Given the description of an element on the screen output the (x, y) to click on. 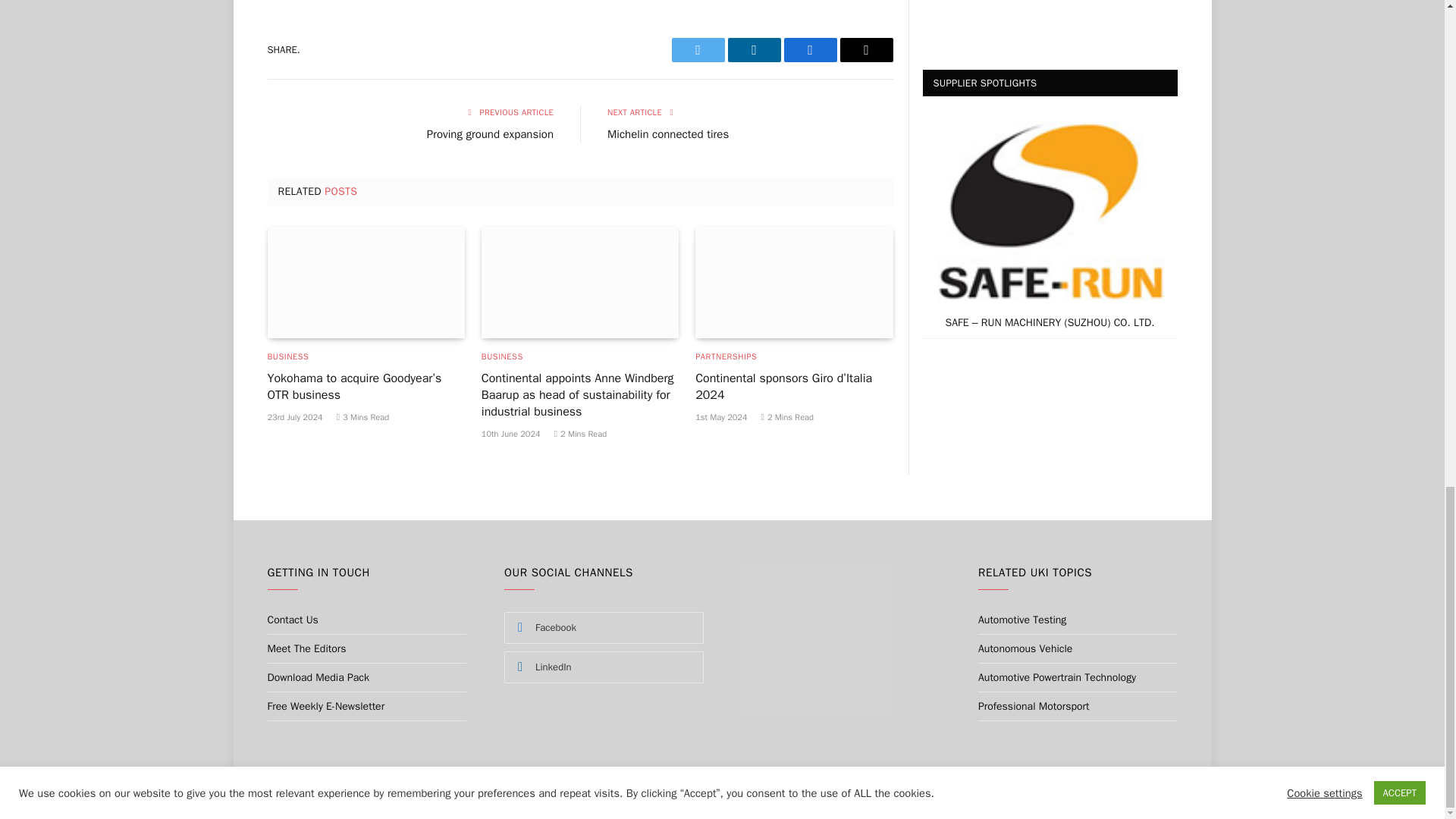
Share on LinkedIn (754, 49)
Share on Twitter (698, 49)
